Given the description of an element on the screen output the (x, y) to click on. 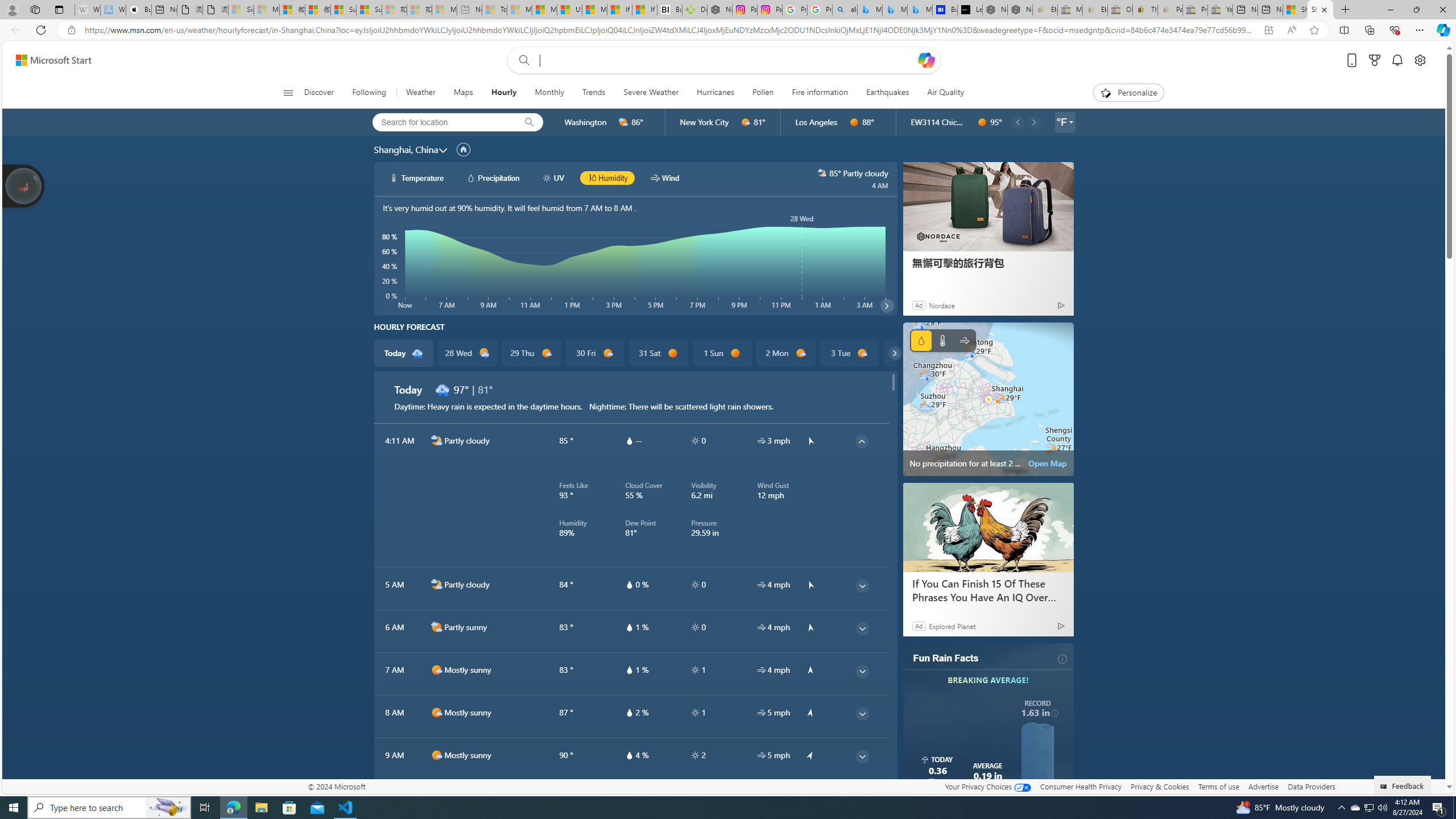
hourlyTable/drop (628, 755)
Press Room - eBay Inc. - Sleeping (1194, 9)
alabama high school quarterback dies - Search (844, 9)
